Given the description of an element on the screen output the (x, y) to click on. 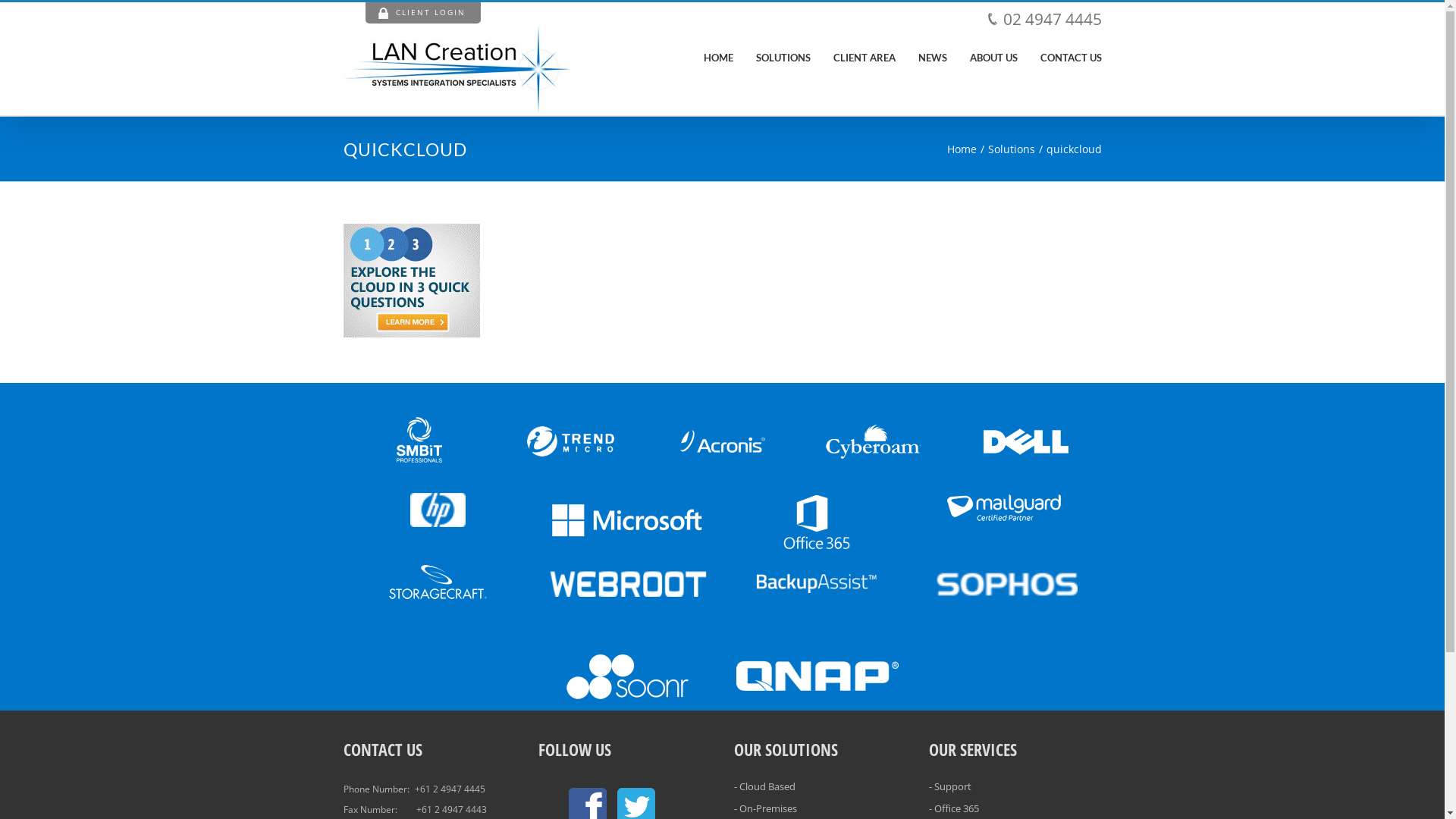
SOLUTIONS Element type: text (782, 56)
02 4947 4445 Element type: text (1051, 18)
Solutions Element type: text (1010, 148)
- Cloud Based Element type: text (820, 790)
CLIENT LOGIN Element type: text (422, 12)
Home Element type: text (960, 148)
CONTACT US Element type: text (1070, 56)
NEWS Element type: text (931, 56)
HOME Element type: text (718, 56)
- Support Element type: text (1014, 790)
CLIENT AREA Element type: text (863, 56)
ABOUT US Element type: text (992, 56)
